Given the description of an element on the screen output the (x, y) to click on. 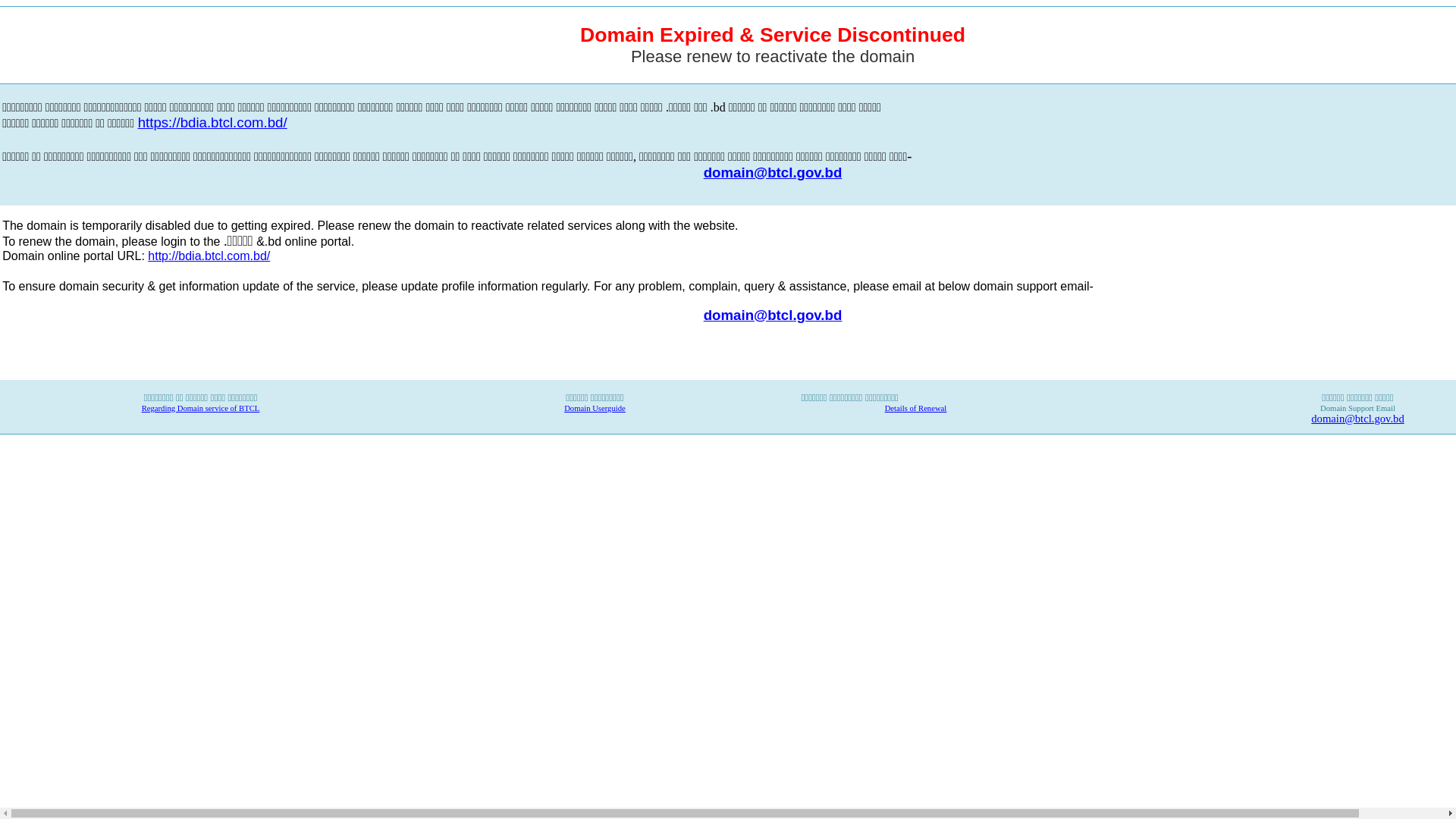
domain@btcl.gov.bd Element type: text (772, 172)
Regarding Domain service of BTCL Element type: text (200, 408)
https://bdia.btcl.com.bd/ Element type: text (212, 123)
http://bdia.btcl.com.bd/ Element type: text (208, 256)
Details of Renewal Element type: text (915, 408)
Domain Userguide Element type: text (594, 408)
domain@btcl.gov.bd Element type: text (772, 314)
domain@btcl.gov.bd Element type: text (1357, 418)
